Given the description of an element on the screen output the (x, y) to click on. 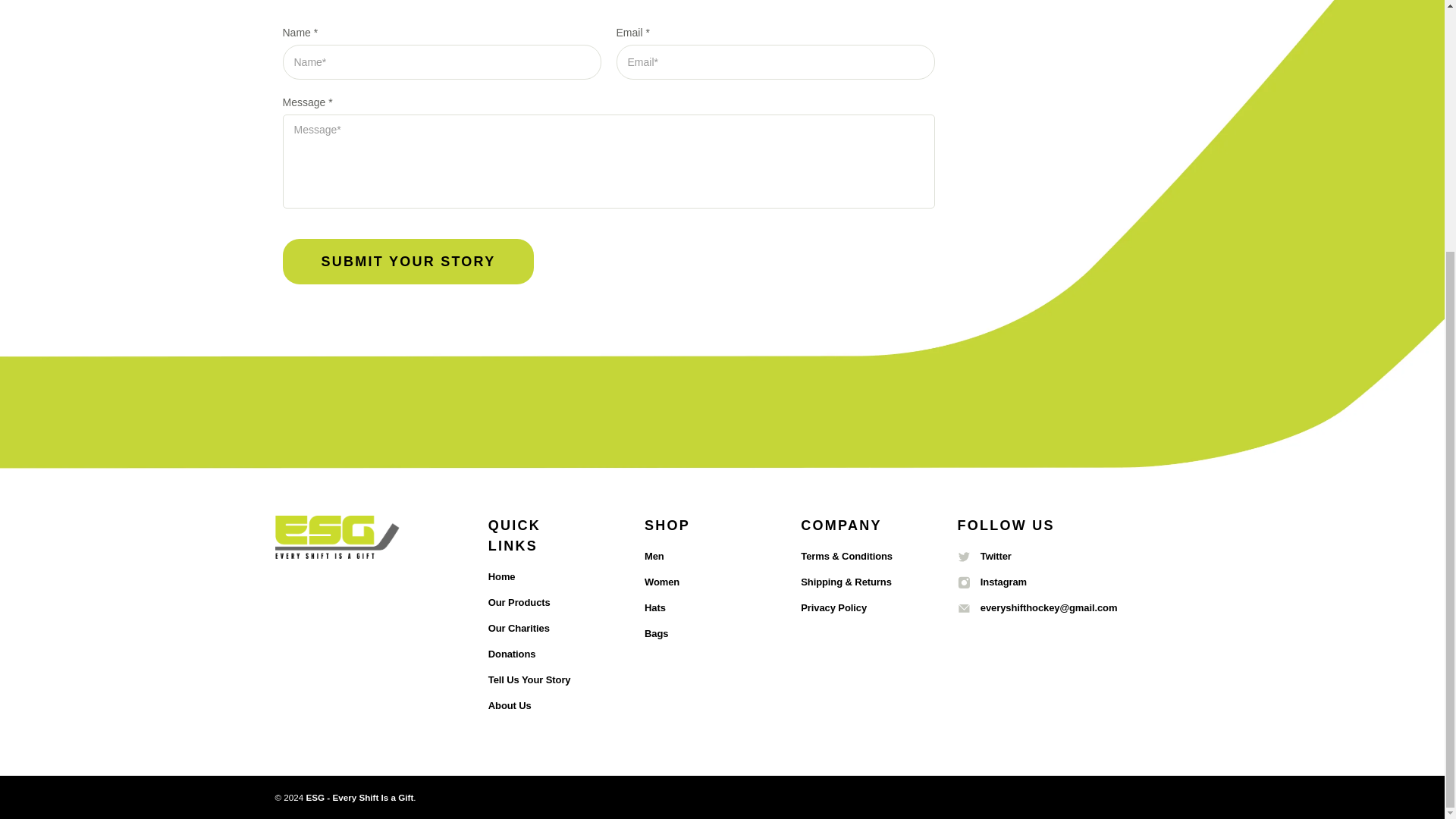
ESG - Every Shift Is a Gift (336, 544)
z (962, 608)
ESG - Every Shift Is a Gift on Twitter (983, 555)
Email ESG - Every Shift Is a Gift (1036, 607)
z (962, 556)
z (962, 582)
ESG - Every Shift Is a Gift on Instagram (991, 582)
